Given the description of an element on the screen output the (x, y) to click on. 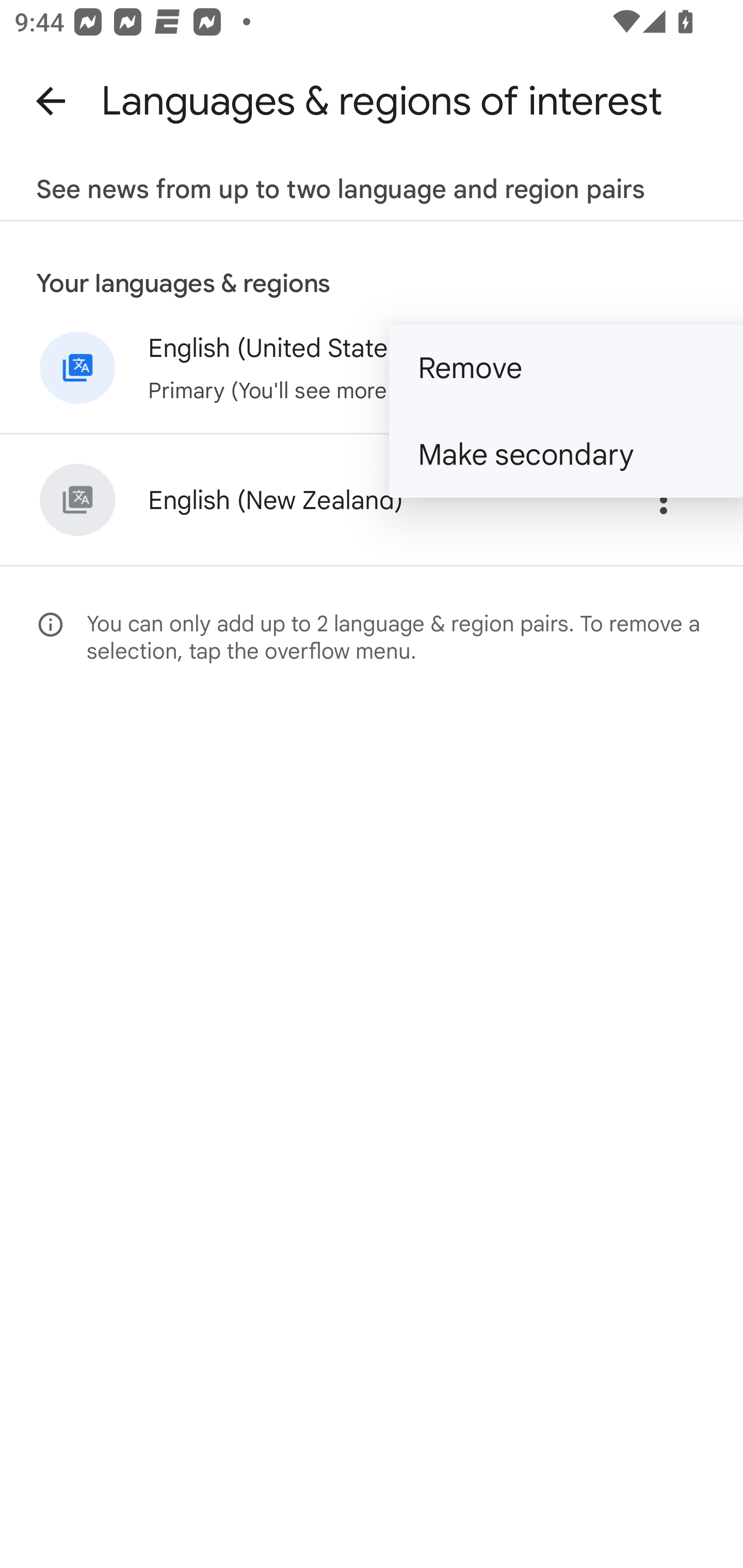
Remove (566, 367)
Make secondary (566, 453)
